Given the description of an element on the screen output the (x, y) to click on. 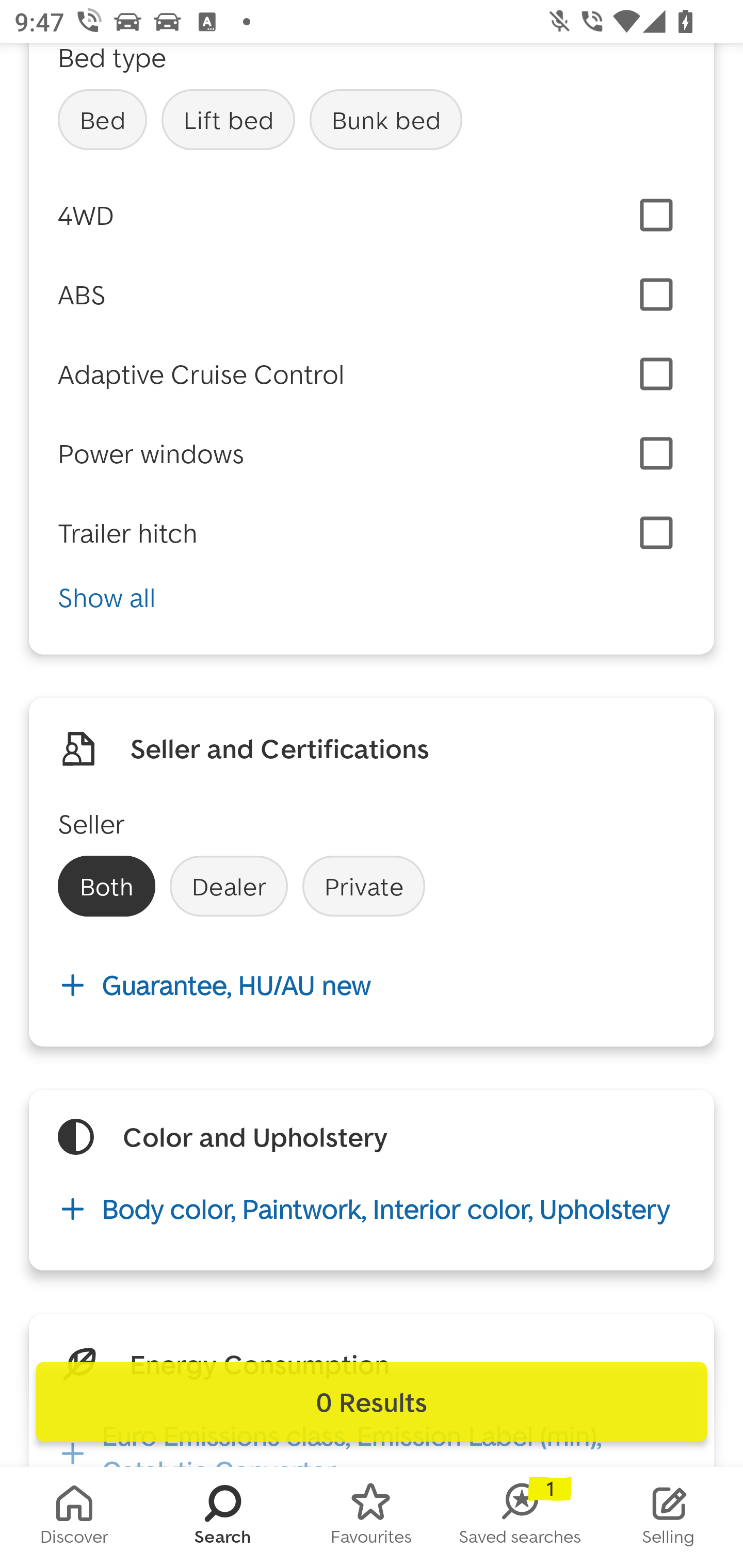
Bed type (111, 59)
Bed (102, 119)
Lift bed (227, 119)
Bunk bed (385, 119)
4WD (371, 215)
4WD (85, 214)
ABS (81, 294)
Adaptive Cruise Control (201, 373)
Power windows (150, 452)
Trailer hitch (127, 532)
Show all (371, 597)
Seller and Certifications (279, 747)
Seller (91, 823)
Both (106, 886)
Dealer (228, 886)
Private (363, 886)
Guarantee, HU/AU new (371, 985)
Color and Upholstery (254, 1136)
Body color, Paintwork, Interior color, Upholstery (371, 1208)
0 Results (371, 1401)
HOMESCREEN Discover (74, 1517)
SEARCH Search (222, 1517)
FAVORITES Favourites (371, 1517)
SAVED_SEARCHES Saved searches 1 (519, 1517)
STOCK_LIST Selling (668, 1517)
